Given the description of an element on the screen output the (x, y) to click on. 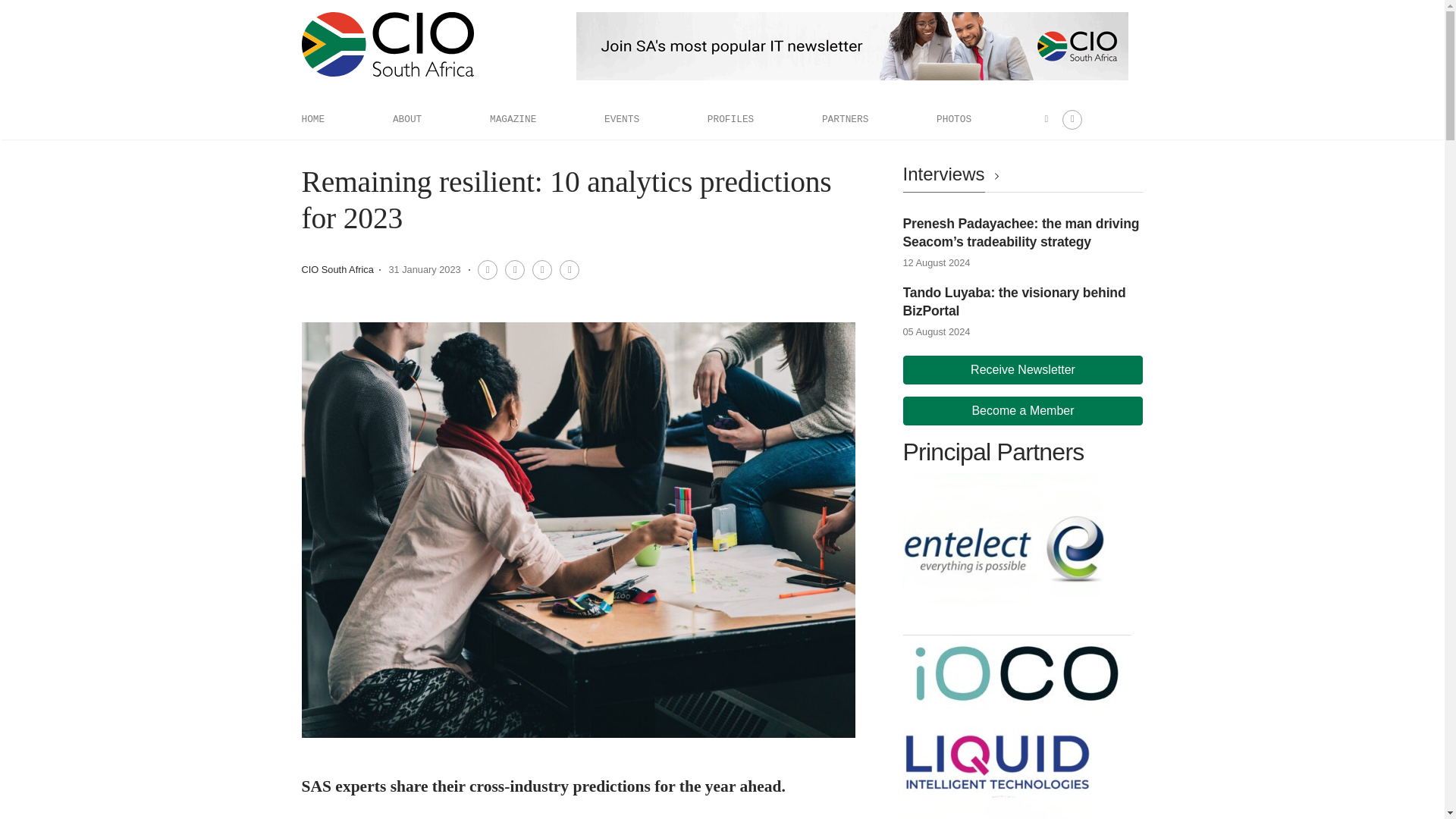
Receive Newsletter (1022, 369)
HOME (312, 119)
Interviews (953, 173)
CIO South Africa (337, 269)
Receive Newsletter (1022, 369)
Tando Luyaba: the visionary behind BizPortal (1013, 301)
EVENTS (621, 119)
PROFILES (730, 119)
MAGAZINE (512, 119)
Become a Member (1022, 410)
